Given the description of an element on the screen output the (x, y) to click on. 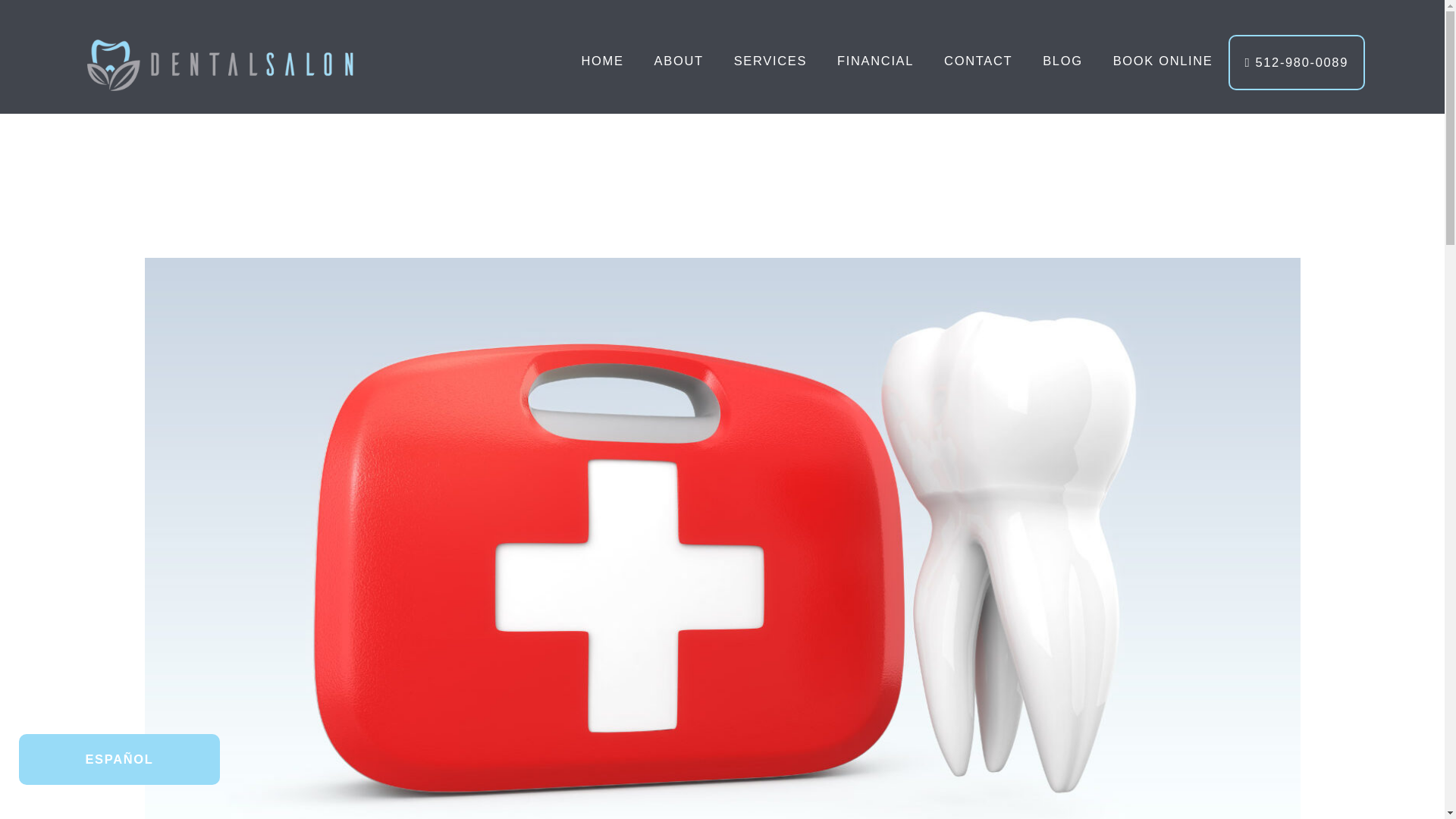
CONTACT (977, 60)
FINANCIAL (875, 60)
Why You Should Seek Care Quickly for a Dental Emergency (722, 569)
HOME (602, 60)
BLOG (1062, 60)
ABOUT (679, 60)
BOOK ONLINE (1162, 60)
SERVICES (770, 60)
